Given the description of an element on the screen output the (x, y) to click on. 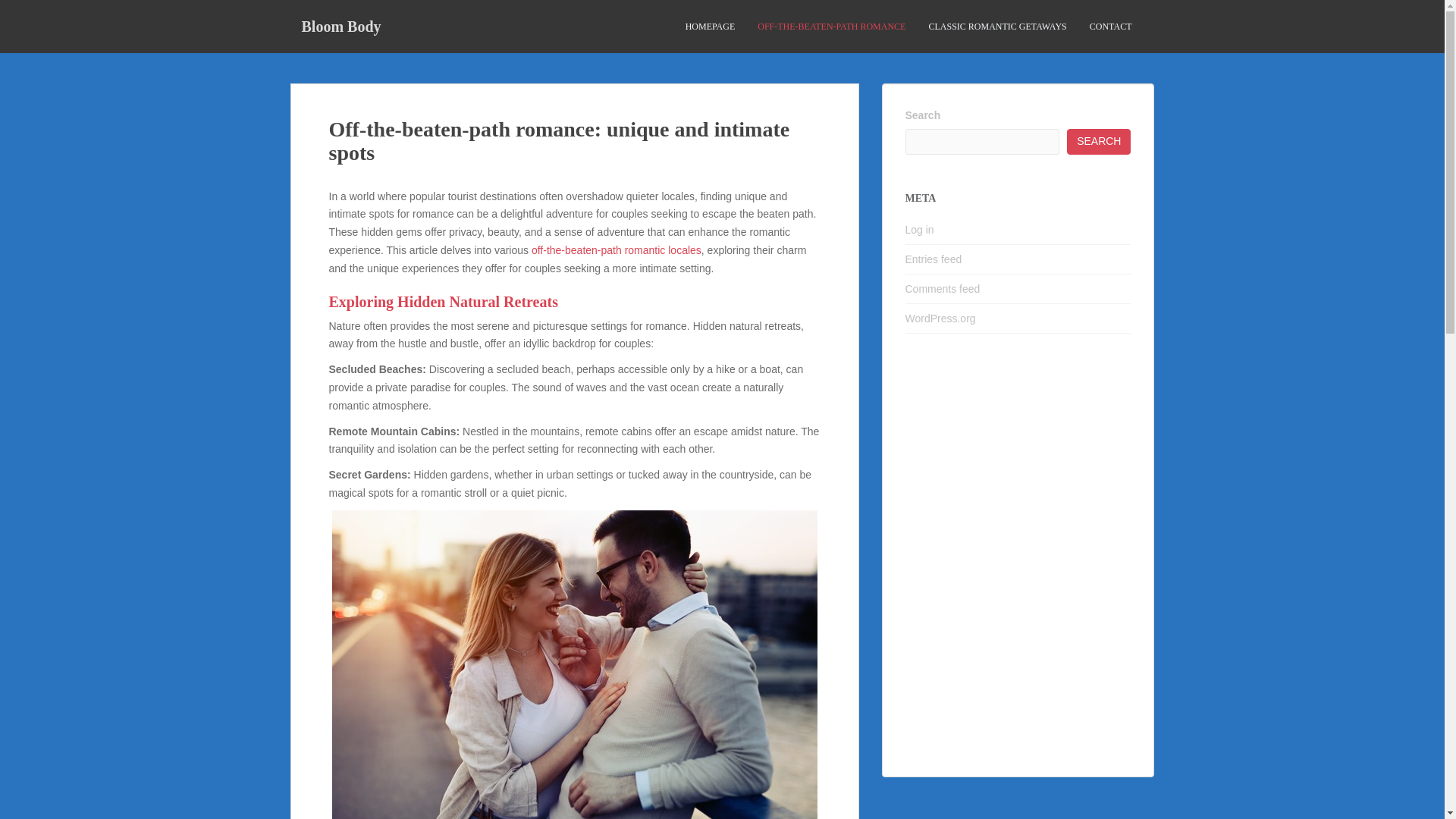
SEARCH (1099, 141)
HOMEPAGE (710, 26)
OFF-THE-BEATEN-PATH ROMANCE (831, 26)
Entries feed (933, 259)
off-the-beaten-path romantic locales (616, 250)
CONTACT (1110, 26)
Log in (919, 229)
Bloom Body (340, 26)
Bloom Body (340, 26)
WordPress.org (940, 318)
